Given the description of an element on the screen output the (x, y) to click on. 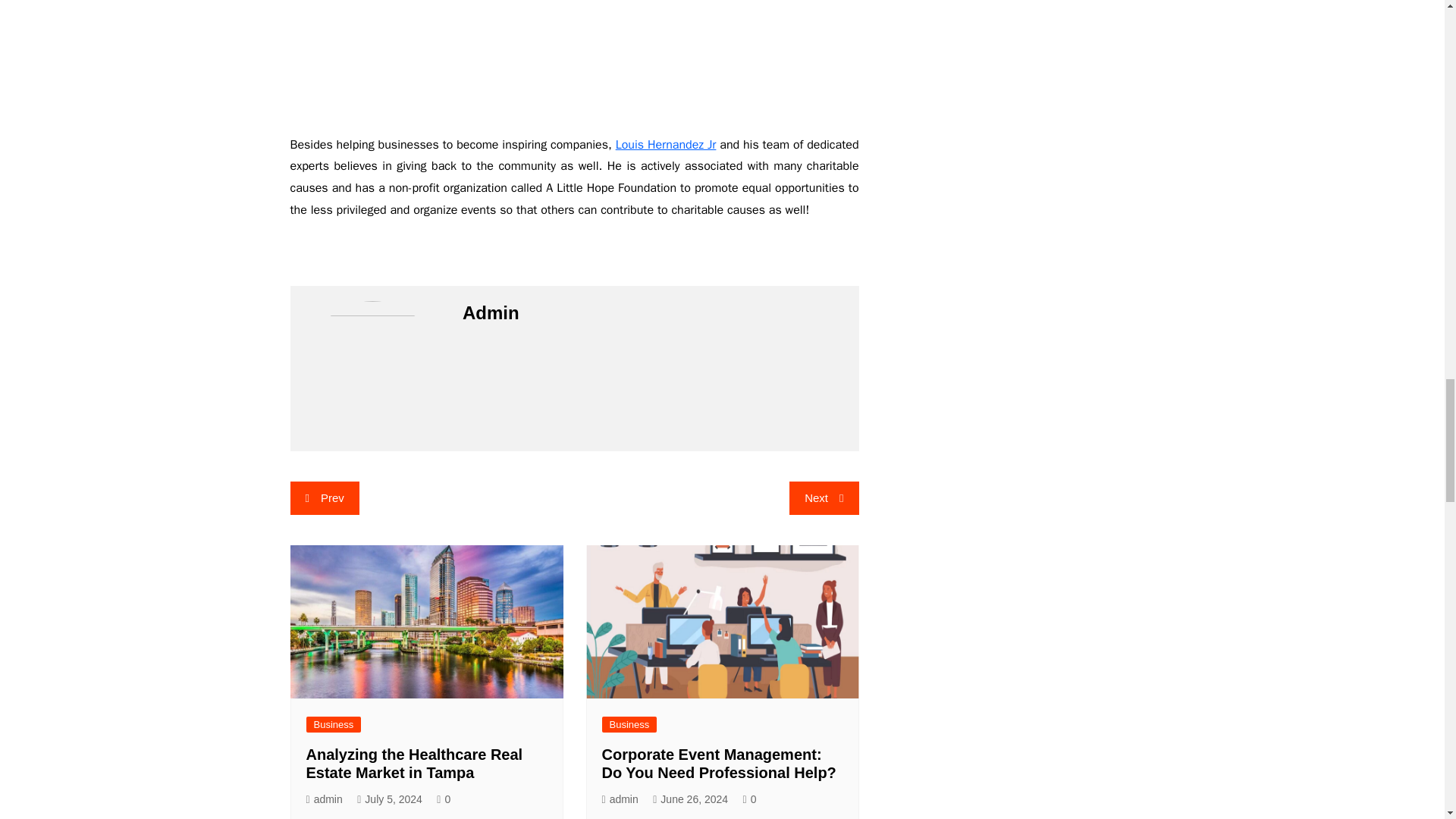
Analyzing the Healthcare Real Estate Market in Tampa (413, 763)
Next (824, 498)
Business (333, 724)
June 26, 2024 (690, 799)
July 5, 2024 (389, 799)
Corporate Event Management: Do You Need Professional Help? (718, 763)
admin (323, 799)
Louis Hernandez Jr (665, 144)
Advertisement (574, 59)
Business (630, 724)
Prev (323, 498)
admin (620, 799)
